Given the description of an element on the screen output the (x, y) to click on. 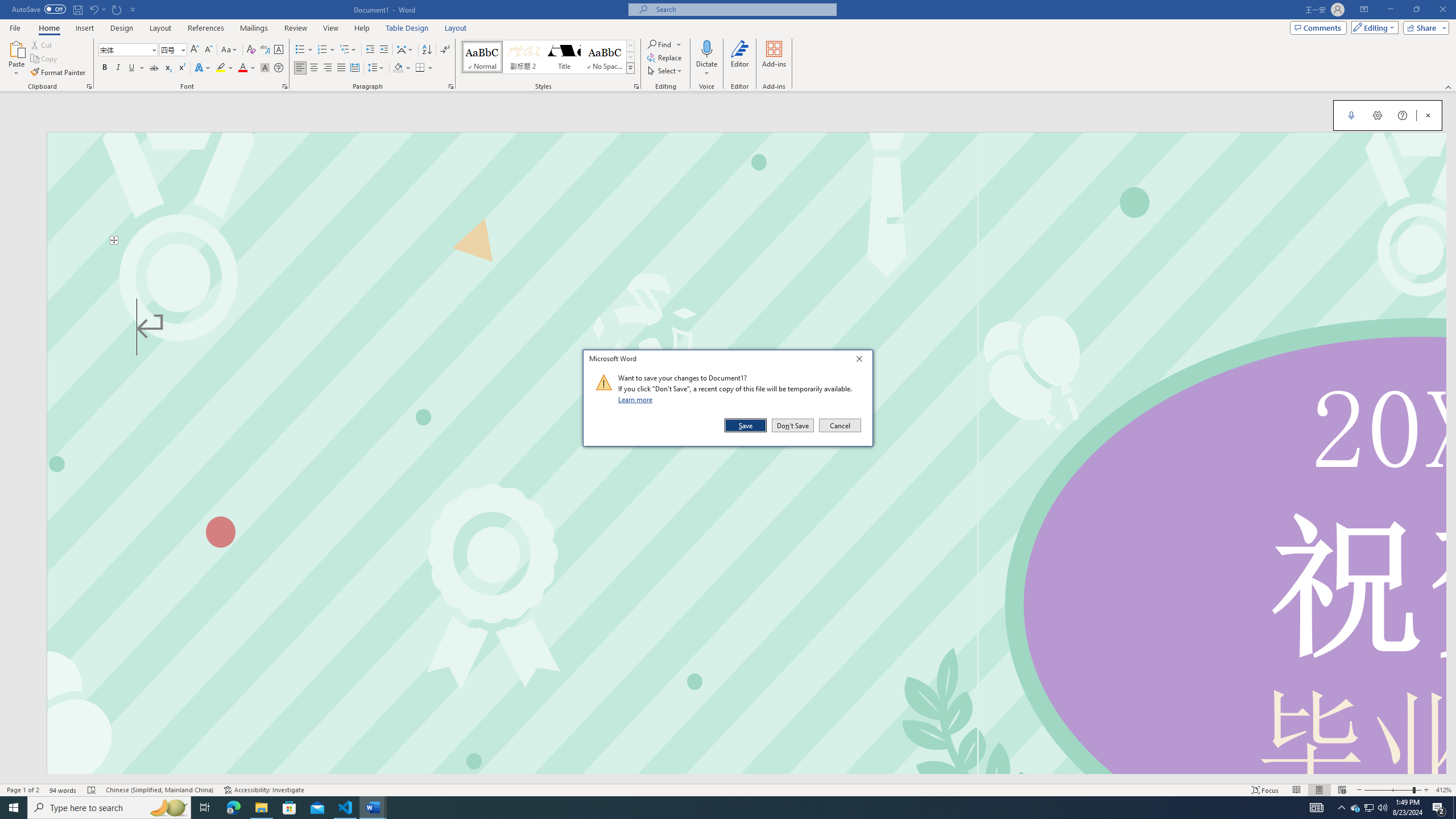
Dictation Settings (1377, 115)
Running applications (717, 807)
